Given the description of an element on the screen output the (x, y) to click on. 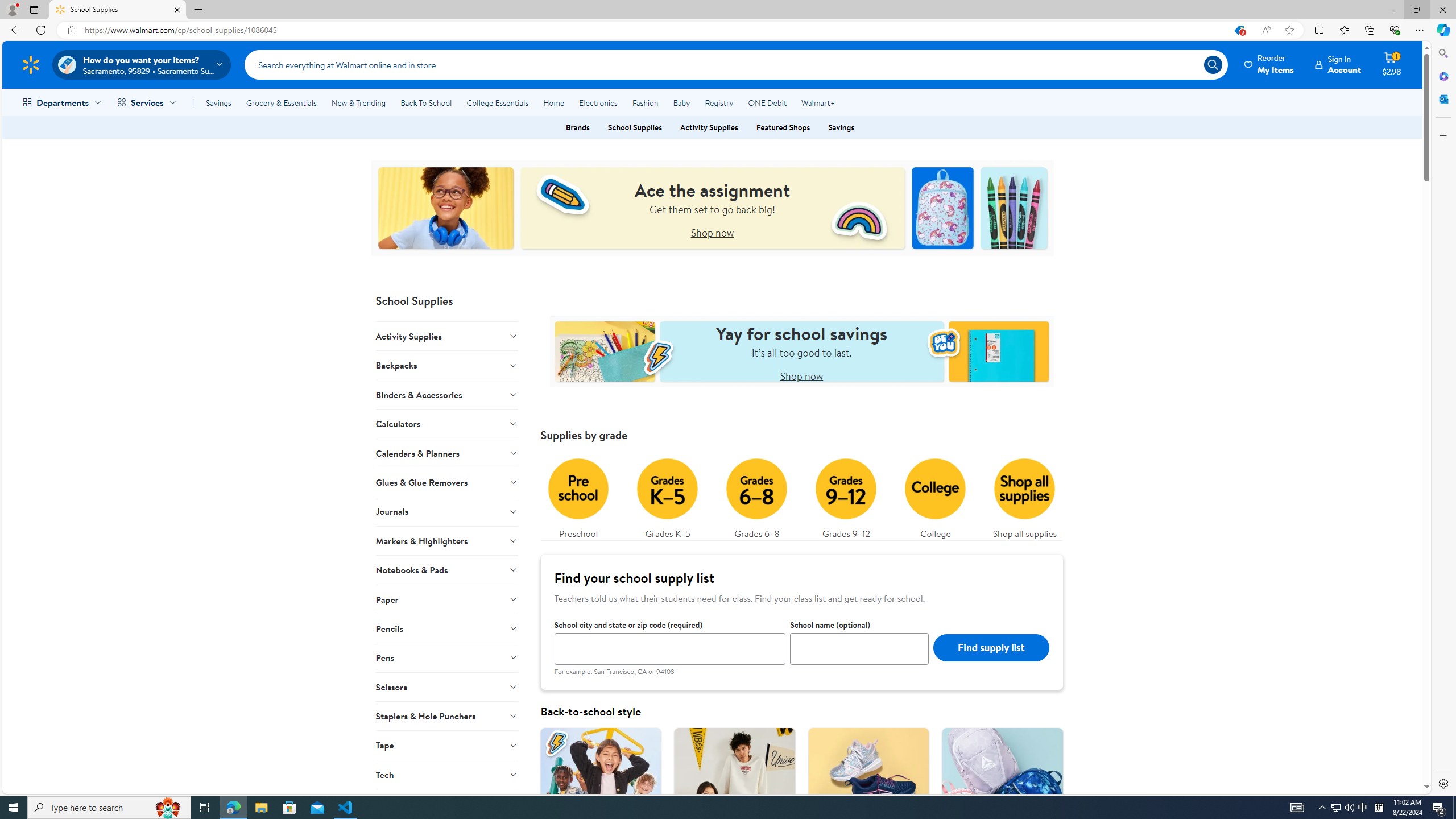
Tech (446, 774)
College (935, 495)
Activity Supplies (446, 335)
Fashion (644, 102)
Walmart+ (817, 102)
Pencils (446, 627)
Calendars & Planners (446, 452)
